Given the description of an element on the screen output the (x, y) to click on. 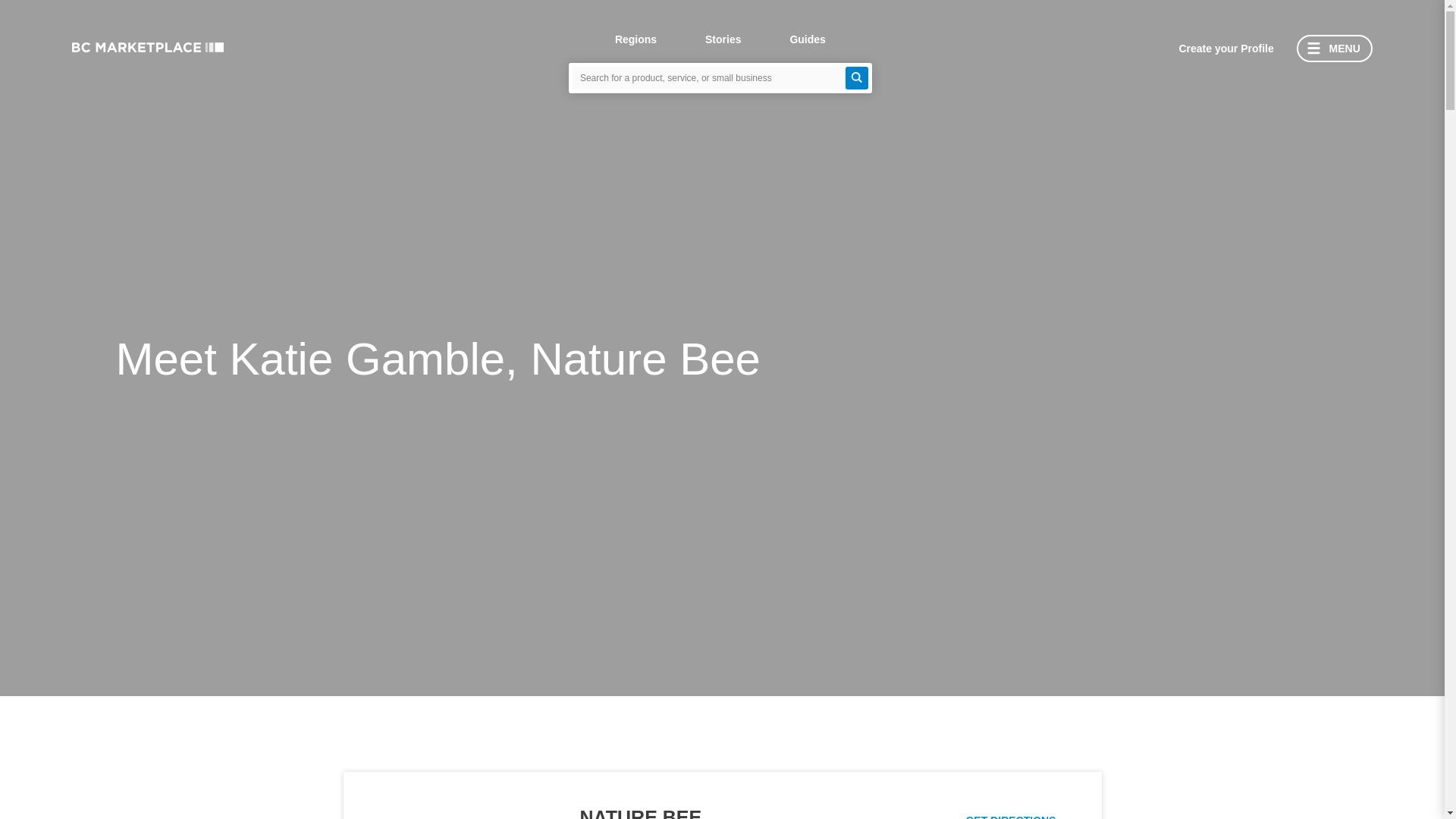
Tweet this (1309, 654)
NATURE BEE (640, 812)
Share on Facebook (1340, 654)
Regions (635, 42)
GET DIRECTIONS (1010, 816)
Guides (807, 42)
Share on LinkedIn (1369, 654)
Stories (722, 42)
Facebook (1340, 654)
Create your Profile (1224, 48)
Twitter (1309, 654)
LinkedIn (1369, 654)
